Given the description of an element on the screen output the (x, y) to click on. 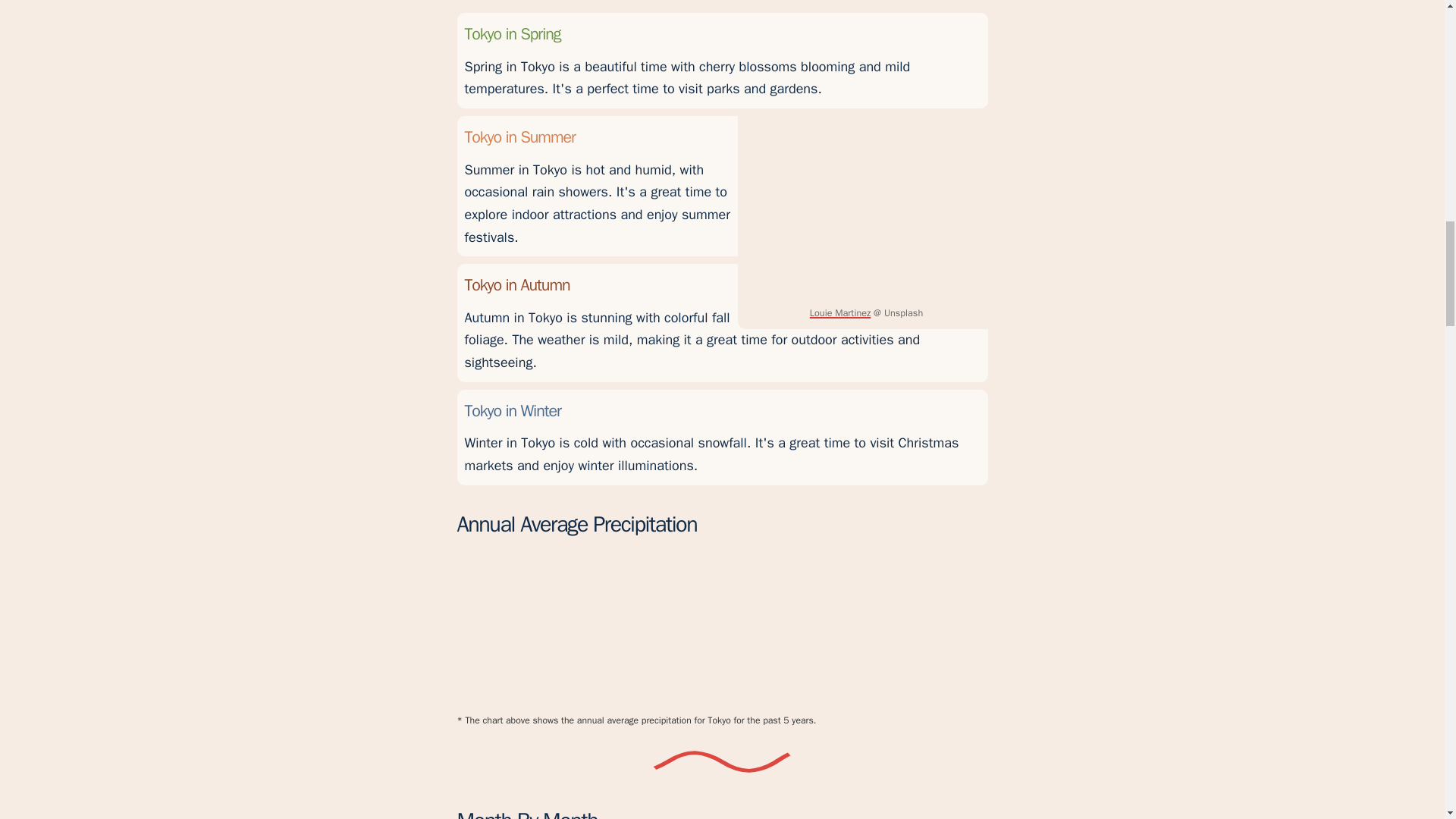
Louie Martinez (839, 313)
